Given the description of an element on the screen output the (x, y) to click on. 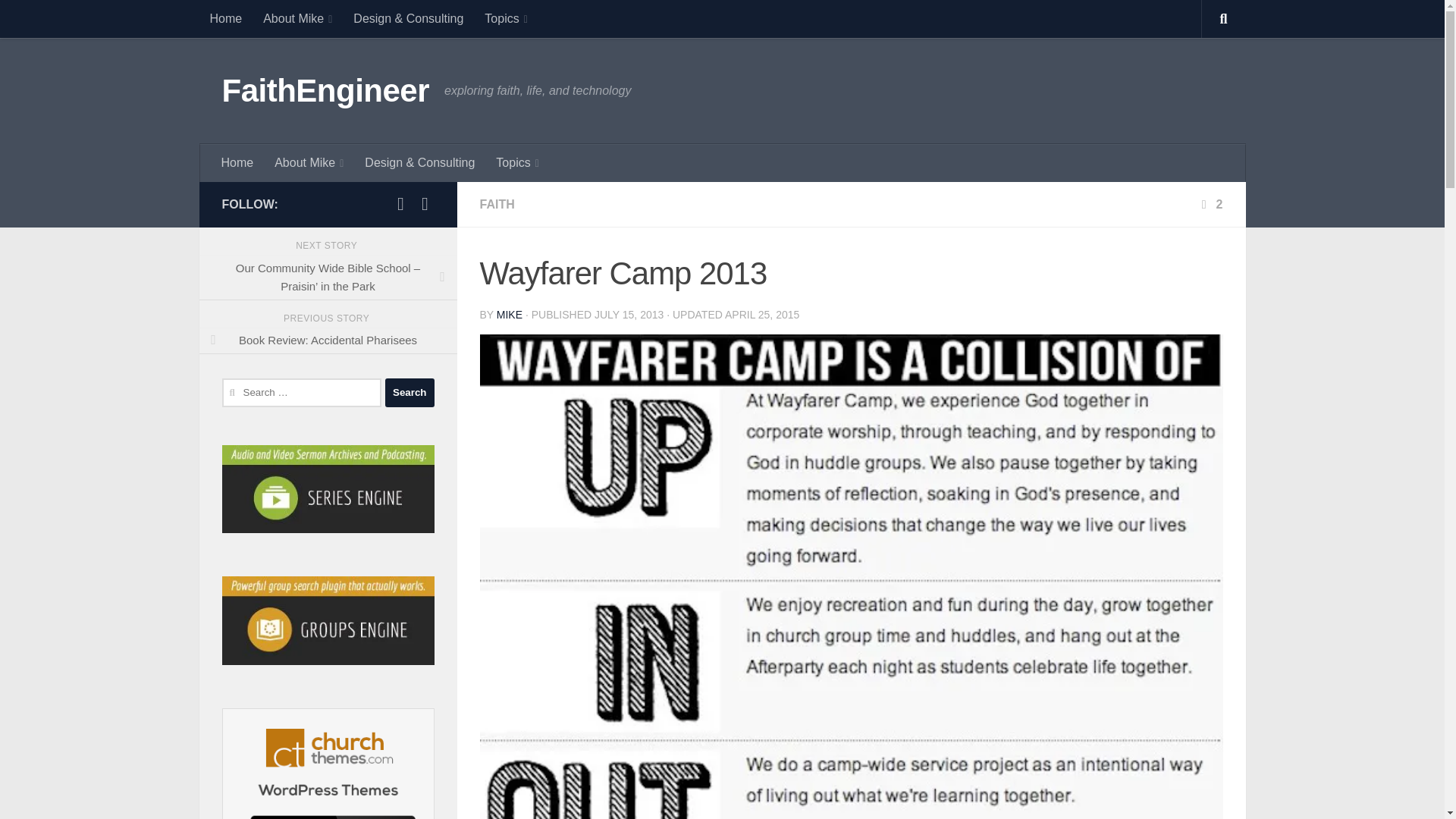
About Mike (308, 162)
2 (1210, 204)
Search (409, 392)
Topics (505, 18)
FAITH (496, 204)
Posts by Mike (509, 314)
Topics (516, 162)
Home (237, 162)
Follow us on Instagram (423, 203)
MIKE (509, 314)
